Given the description of an element on the screen output the (x, y) to click on. 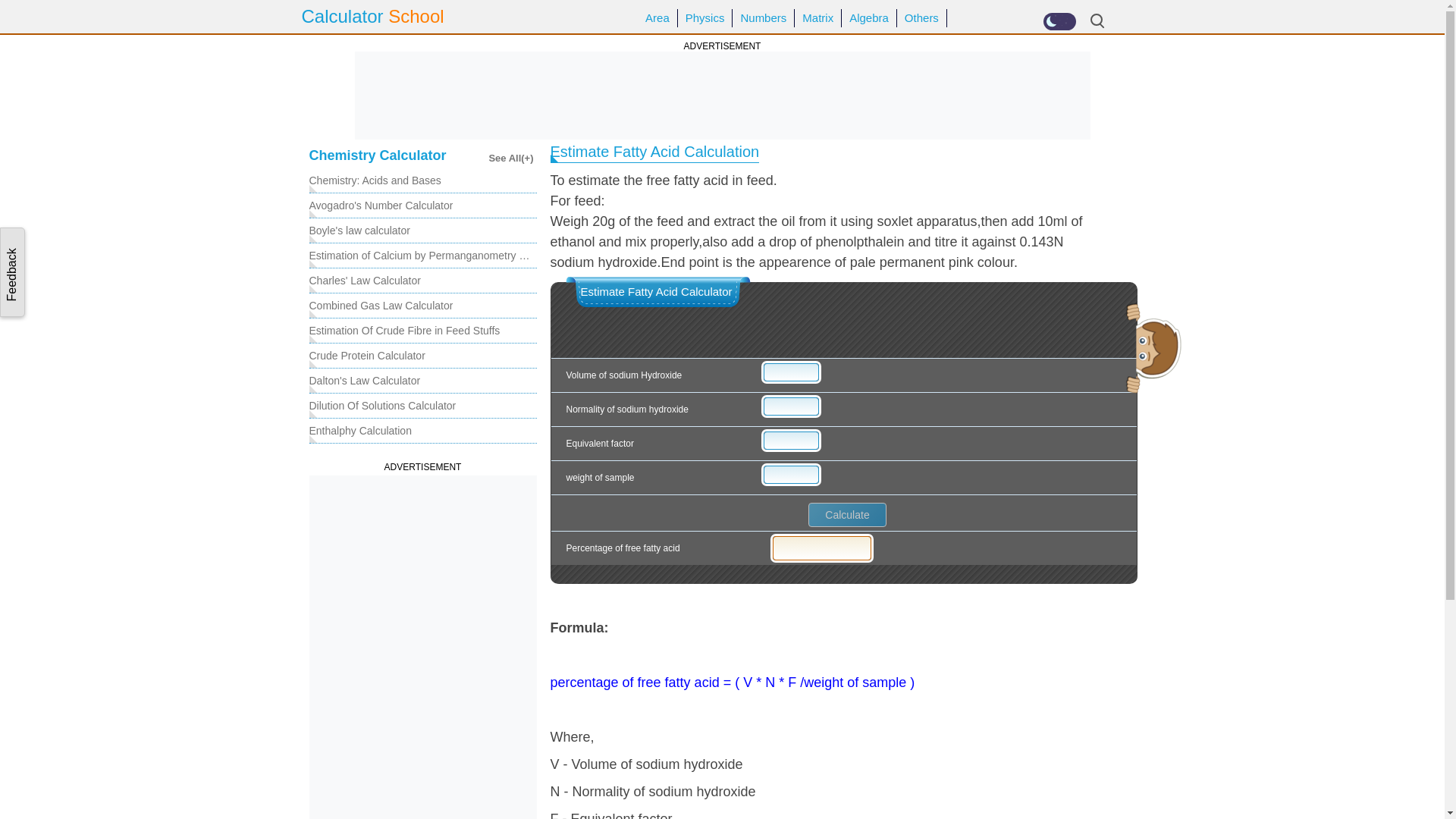
Charles' Law Calculator (364, 280)
Chemistry: Acids and Bases (374, 180)
Dalton's Law Calculator (364, 380)
Area (657, 18)
Estimation Of Crude Fibre in Feed Stuffs (404, 330)
Estimation of Calcium by Permanganometry Calculator (422, 255)
Matrix (817, 18)
Dilution Of Solutions Calculator (382, 405)
Physics (705, 18)
Algebra (868, 18)
